Given the description of an element on the screen output the (x, y) to click on. 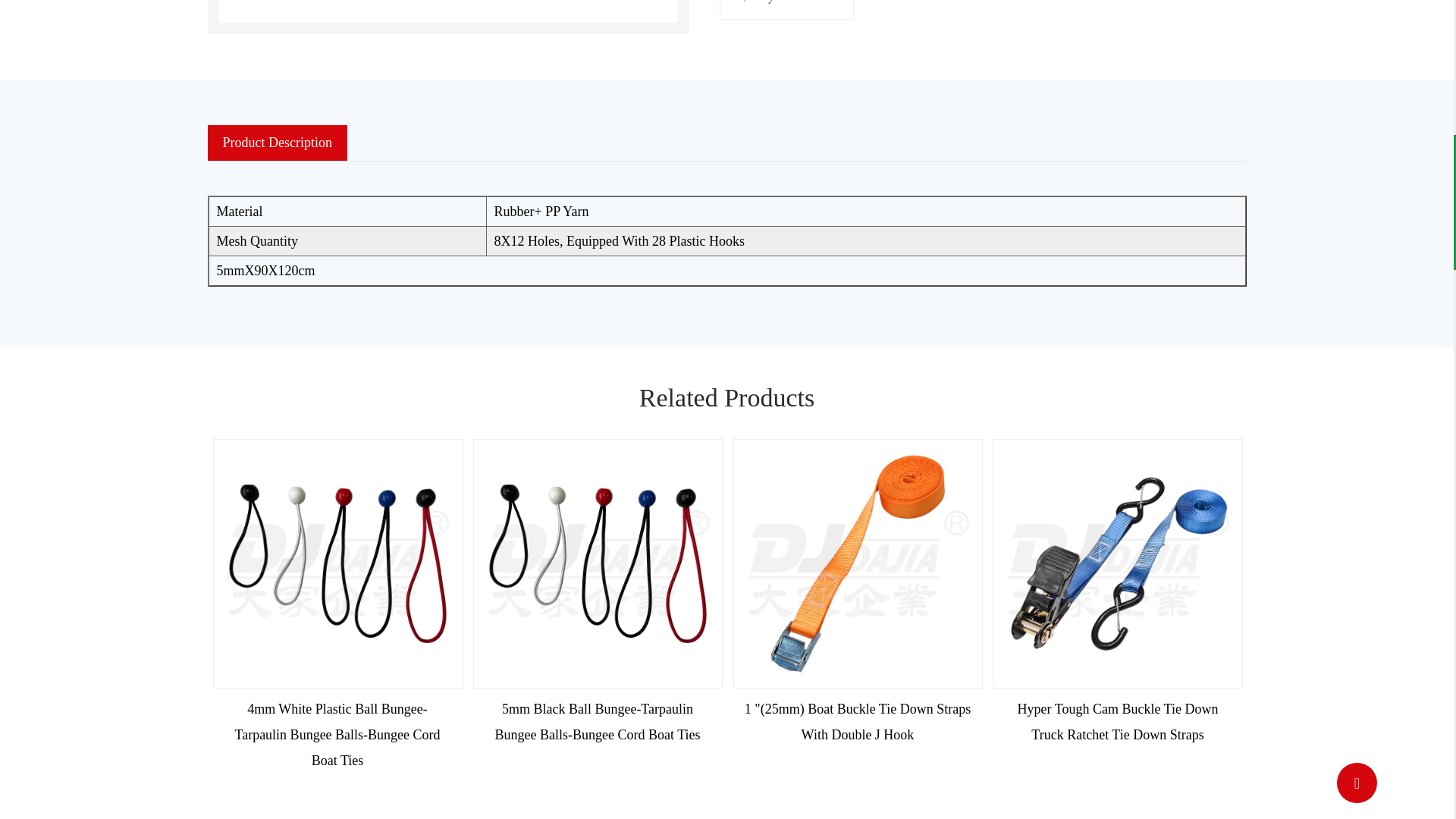
5mmX90X120cm Heavy Duty Bungee Cargo Net For Truck Bed (1116, 563)
5mmX90X120cm Heavy Duty Bungee Cargo Net For Truck Bed (447, 11)
5mmX90X120cm Heavy Duty Bungee Cargo Net For Truck Bed (337, 563)
5mmX90X120cm Heavy Duty Bungee Cargo Net For Truck Bed (857, 563)
5mmX90X120cm Heavy Duty Bungee Cargo Net For Truck Bed (596, 563)
